Given the description of an element on the screen output the (x, y) to click on. 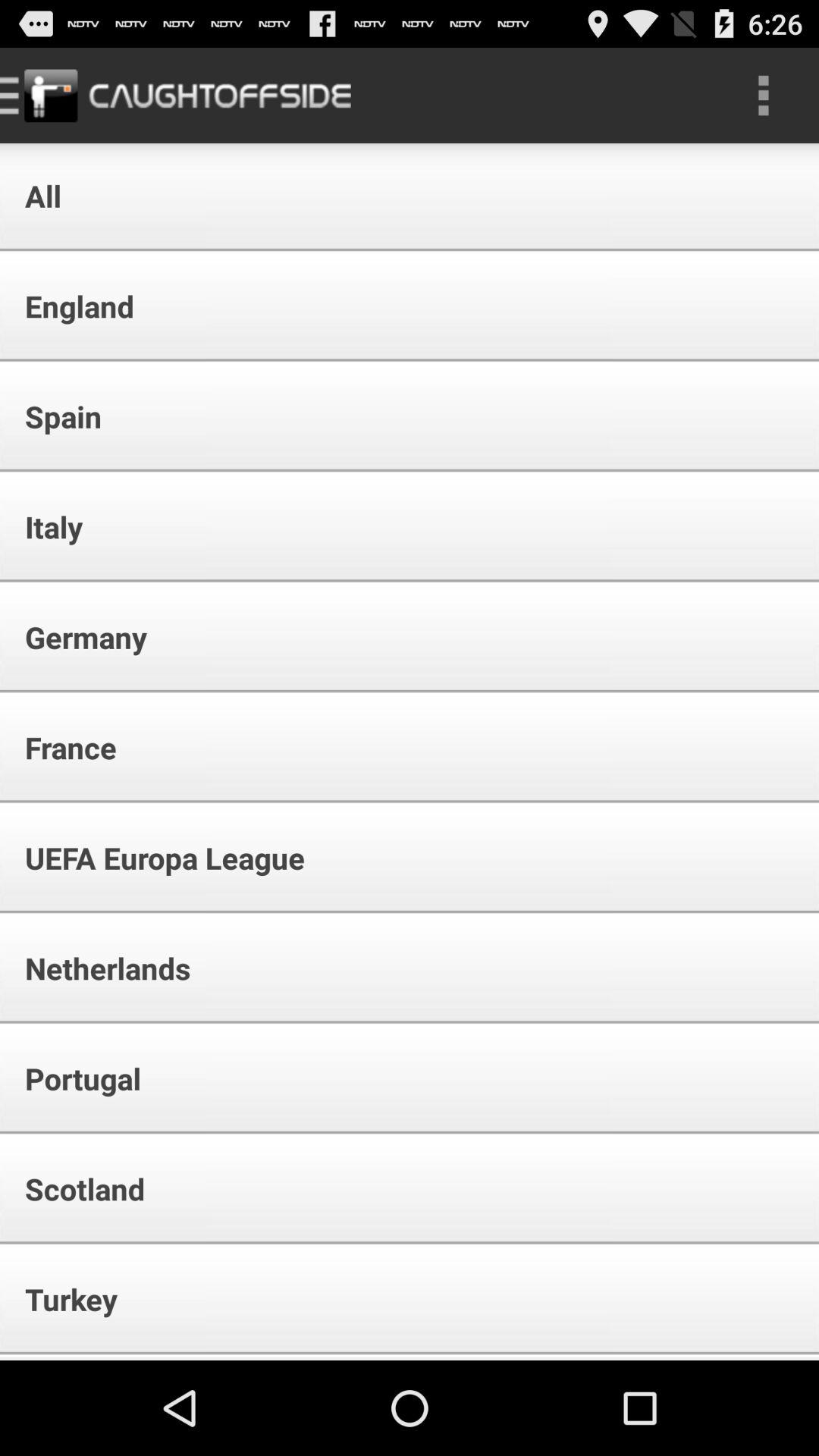
press netherlands app (97, 968)
